Given the description of an element on the screen output the (x, y) to click on. 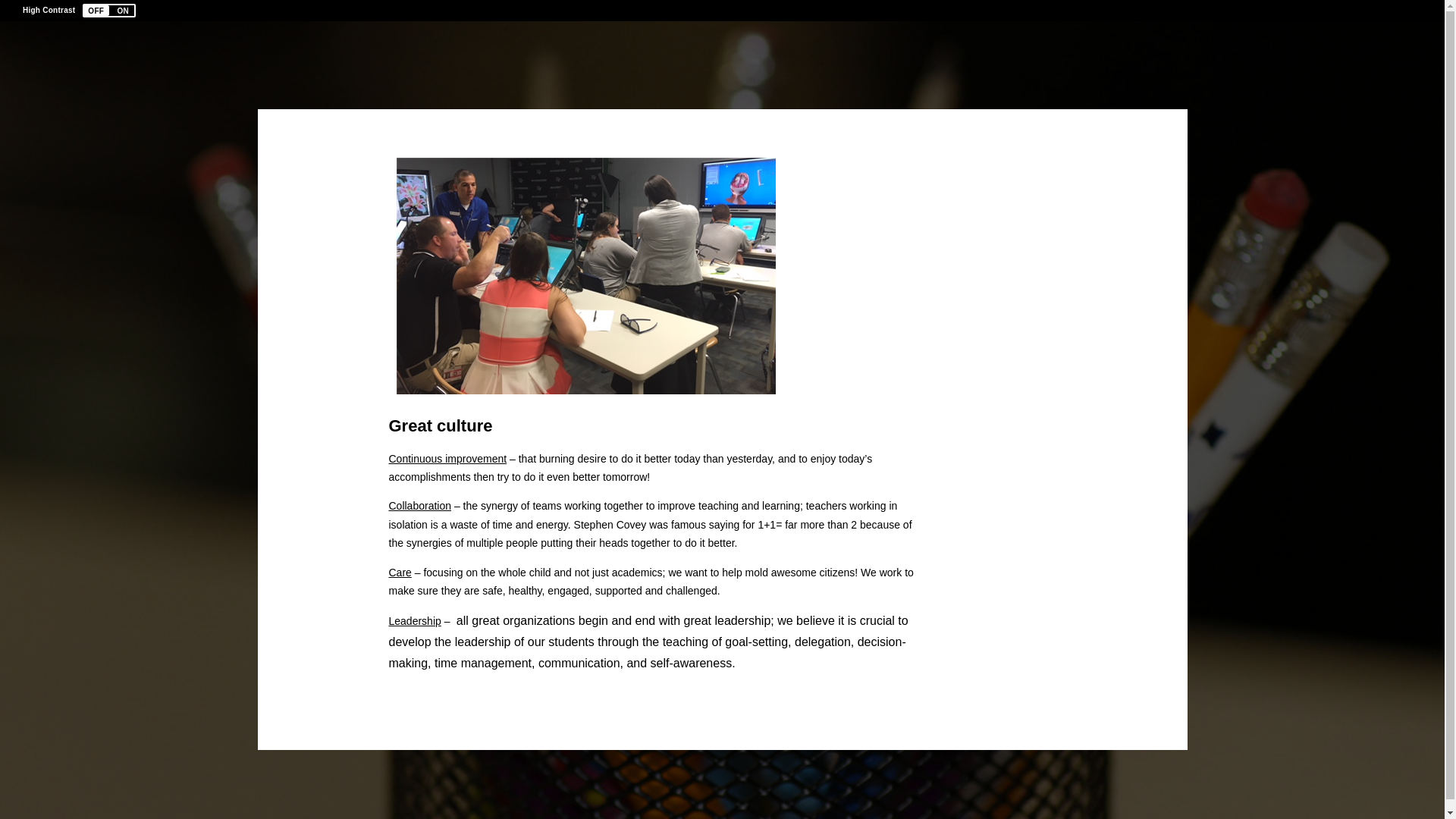
Innovation Lab (585, 275)
